Given the description of an element on the screen output the (x, y) to click on. 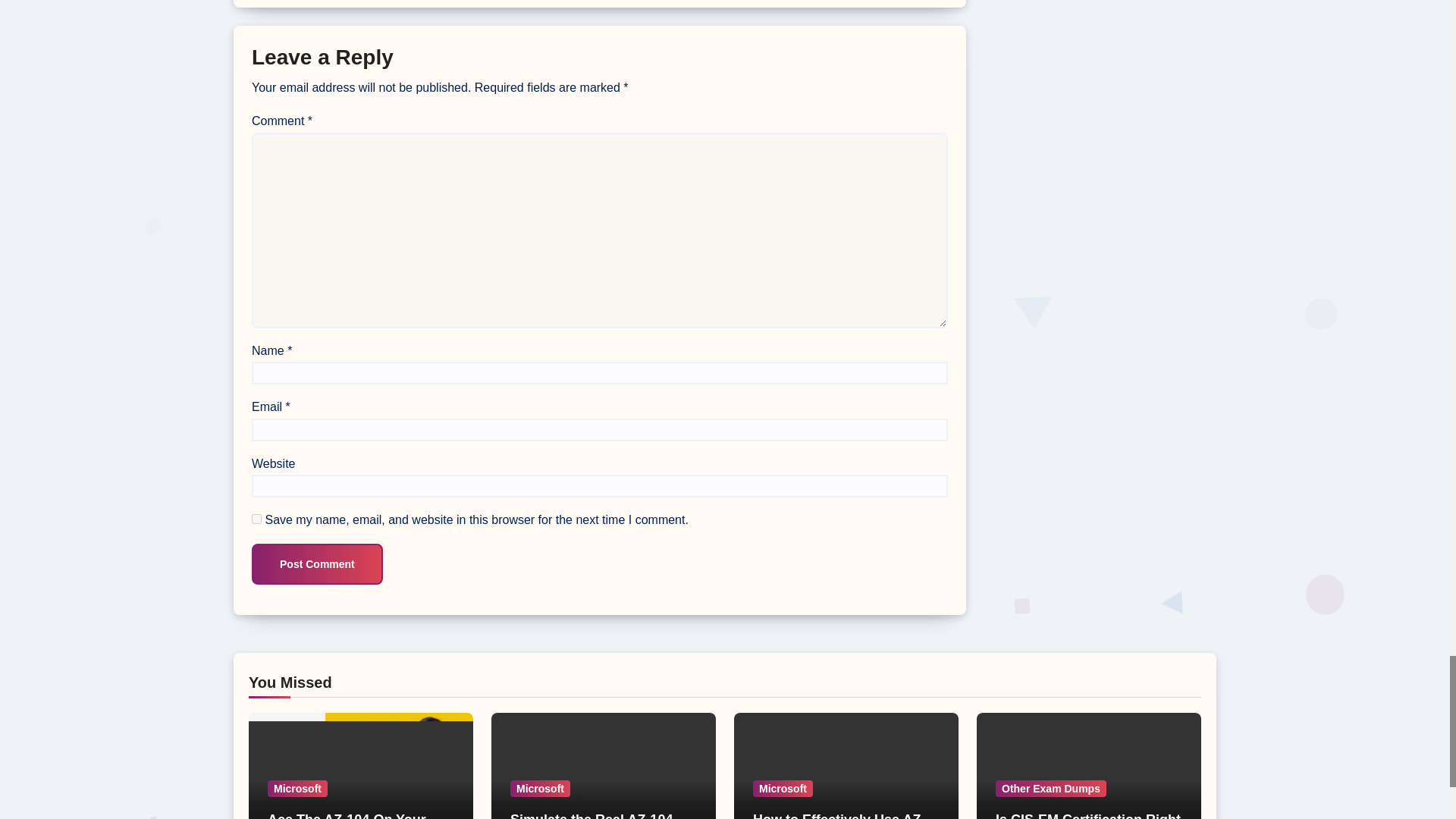
Post Comment (316, 563)
yes (256, 519)
